Given the description of an element on the screen output the (x, y) to click on. 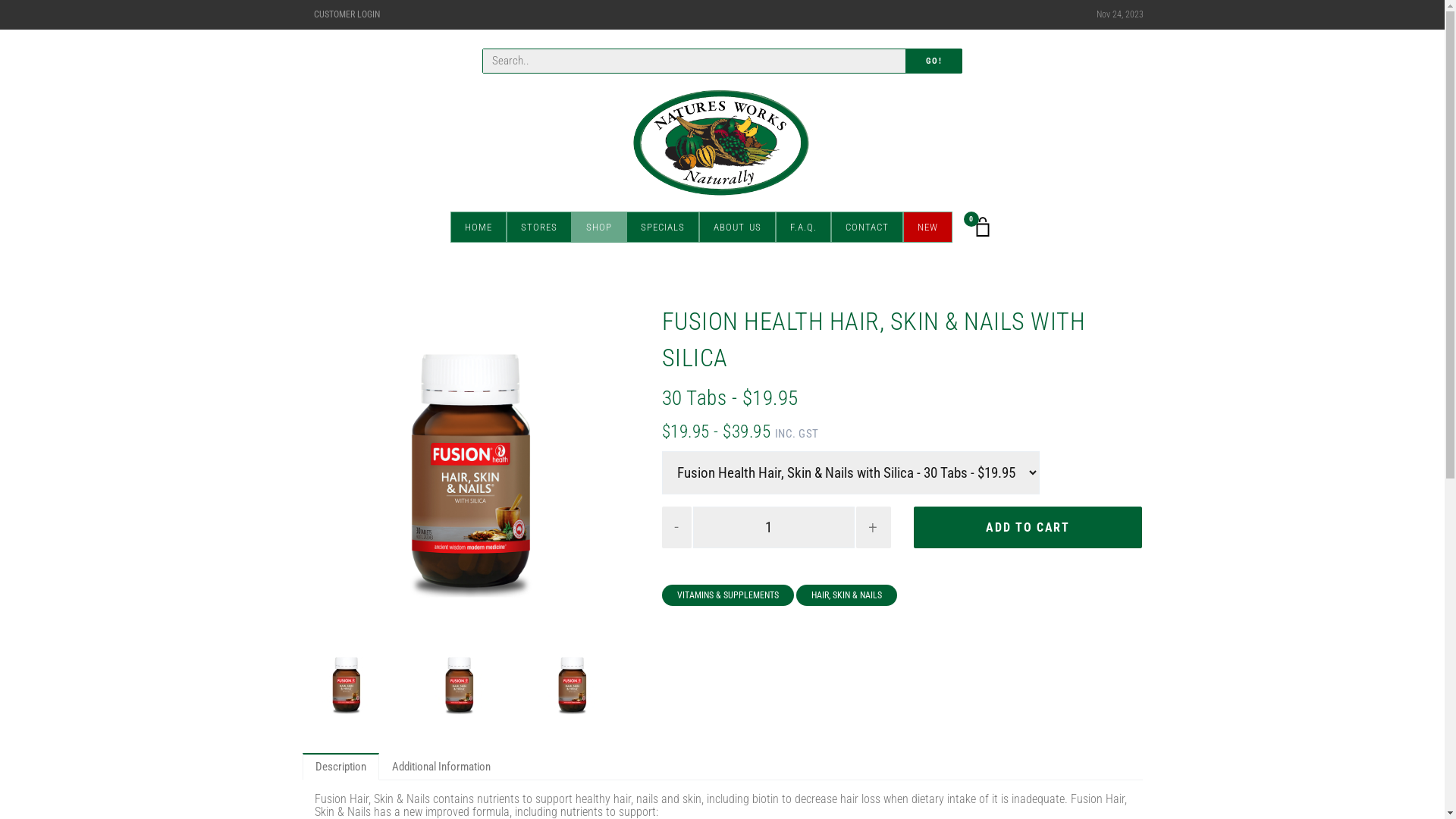
0 Element type: text (982, 226)
STORES Element type: text (538, 225)
HOME Element type: text (478, 225)
Additional Information Element type: text (441, 766)
Description Element type: text (339, 766)
CUSTOMER LOGIN Element type: text (346, 14)
CONTACT Element type: text (867, 225)
VITAMINS & SUPPLEMENTS Element type: text (727, 594)
+ Element type: text (873, 527)
NEW Element type: text (926, 225)
- Element type: text (677, 527)
Next Element type: text (613, 472)
GO! Element type: text (933, 60)
SHOP Element type: text (598, 225)
SPECIALS Element type: text (662, 225)
ABOUT US Element type: text (737, 225)
Add to cart Element type: text (1027, 527)
Previous Element type: text (327, 472)
HAIR, SKIN & NAILS Element type: text (846, 594)
F.A.Q. Element type: text (802, 225)
